Given the description of an element on the screen output the (x, y) to click on. 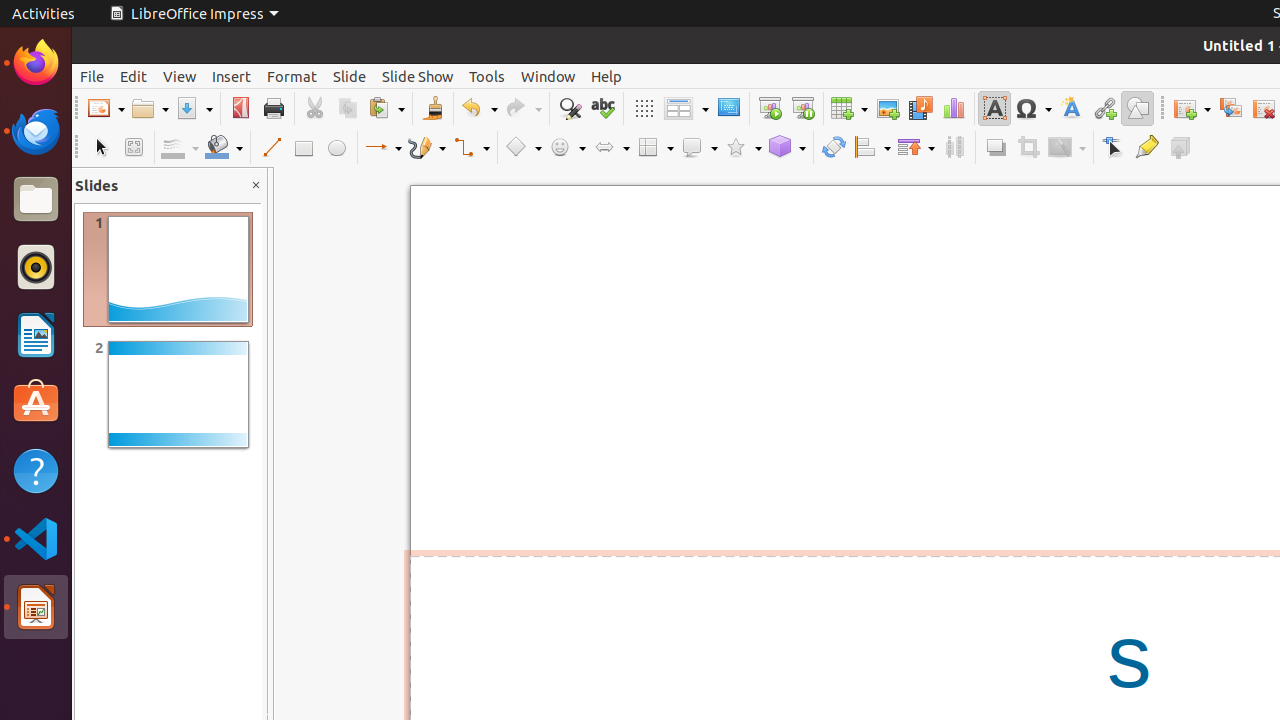
Arrow Shapes Element type: push-button (611, 147)
PDF Element type: push-button (240, 108)
Basic Shapes Element type: push-button (523, 147)
Window Element type: menu (548, 76)
Line Color Element type: push-button (180, 147)
